Given the description of an element on the screen output the (x, y) to click on. 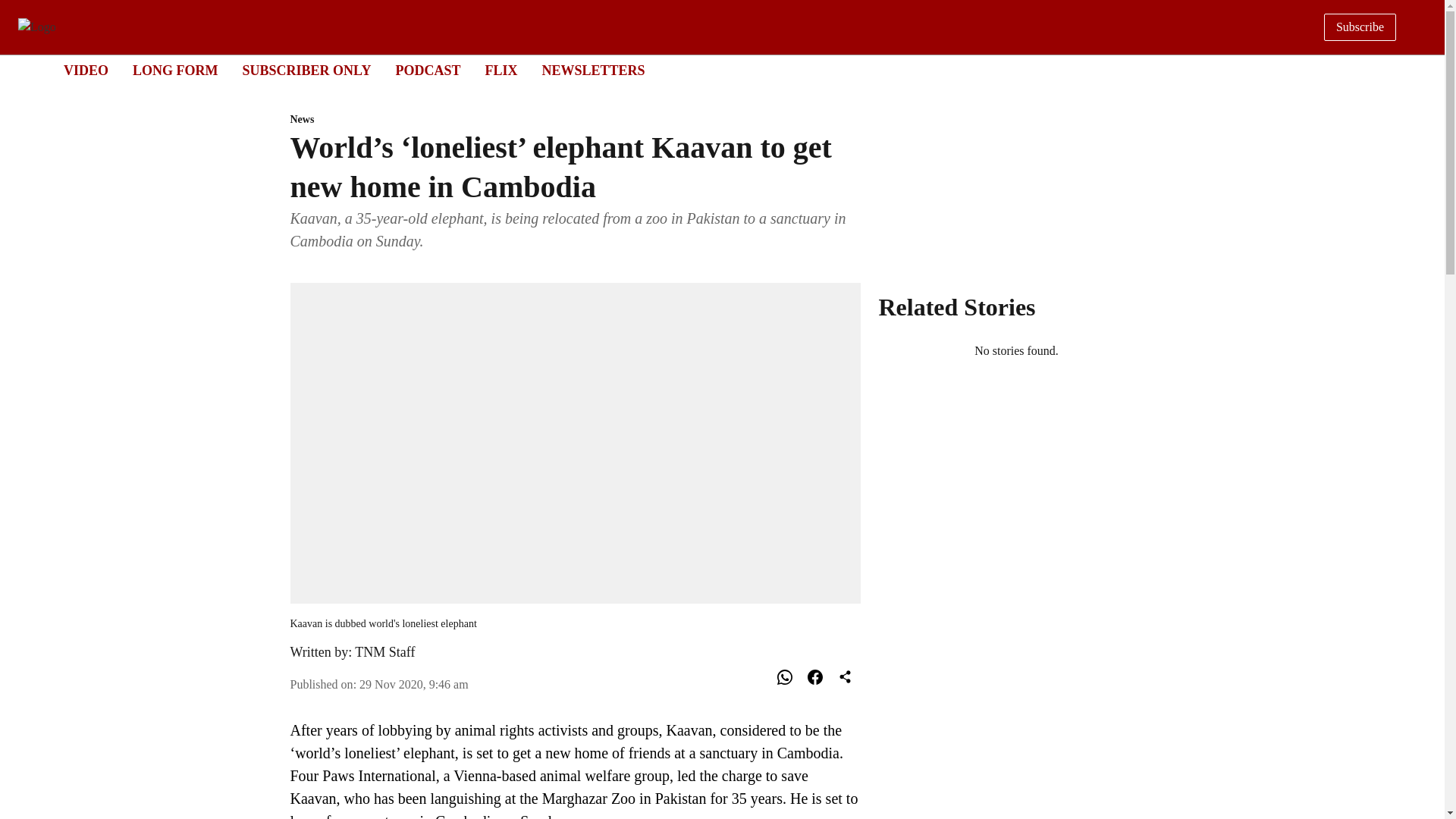
SUBSCRIBER ONLY (307, 70)
News (574, 119)
2020-11-29 09:46 (413, 684)
PODCAST (427, 70)
NEWSLETTERS (593, 70)
FLIX (707, 70)
TNM Staff (500, 70)
VIDEO (384, 652)
LONG FORM (85, 70)
